Given the description of an element on the screen output the (x, y) to click on. 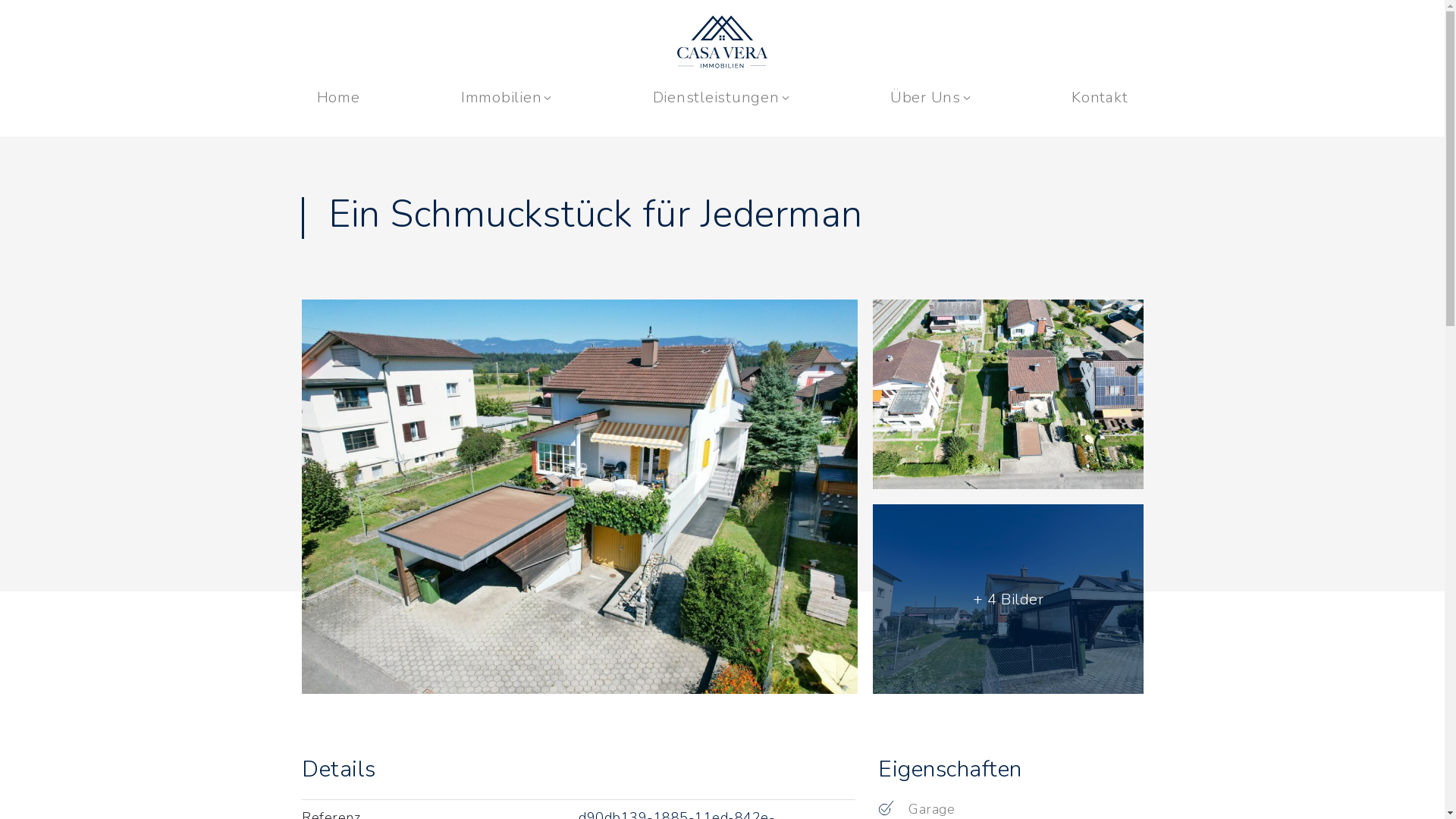
Home Element type: text (338, 97)
Kontakt Element type: text (1099, 97)
Dienstleistungen Element type: text (720, 97)
Immobilien Element type: text (506, 97)
